Given the description of an element on the screen output the (x, y) to click on. 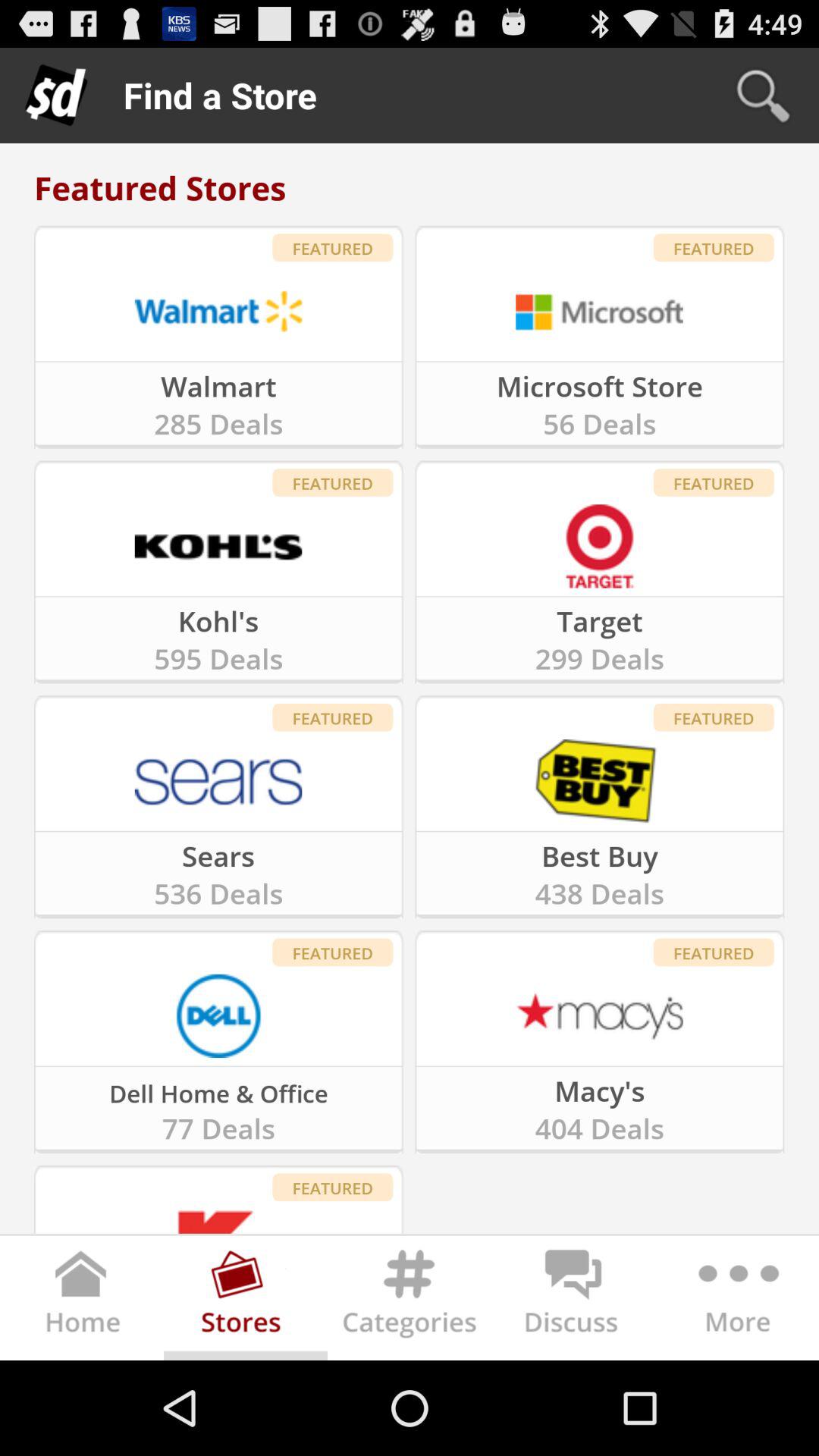
open stores (245, 1301)
